Given the description of an element on the screen output the (x, y) to click on. 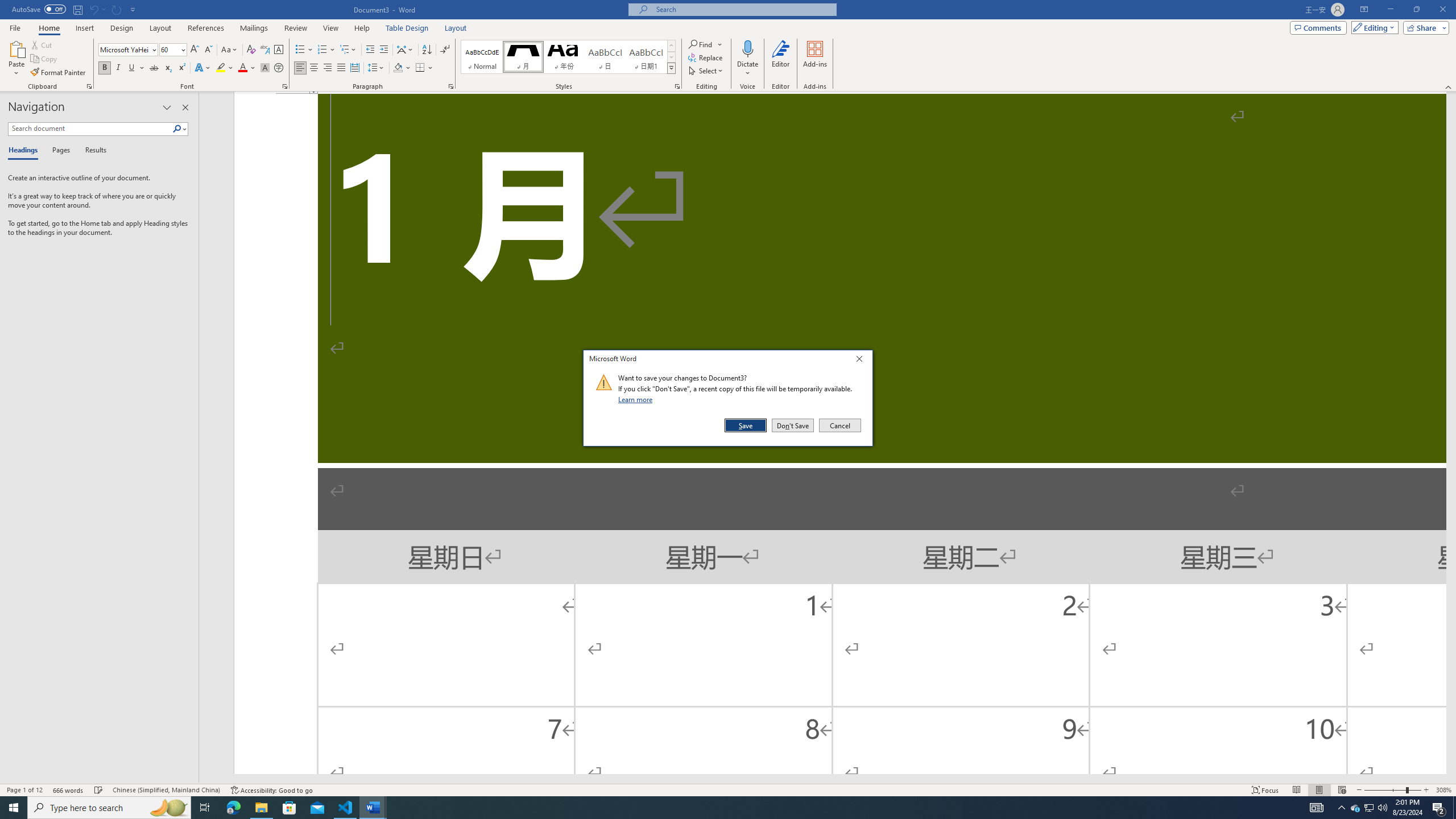
Mailings (253, 28)
Can't Undo (92, 9)
Text Highlight Color Yellow (220, 67)
Bold (104, 67)
Font (128, 49)
Show desktop (1454, 807)
Save (746, 425)
Accessibility Checker Accessibility: Good to go (271, 790)
Customize Quick Access Toolbar (133, 9)
Zoom (1392, 790)
Design (122, 28)
Running applications (717, 807)
Search document (89, 128)
